Given the description of an element on the screen output the (x, y) to click on. 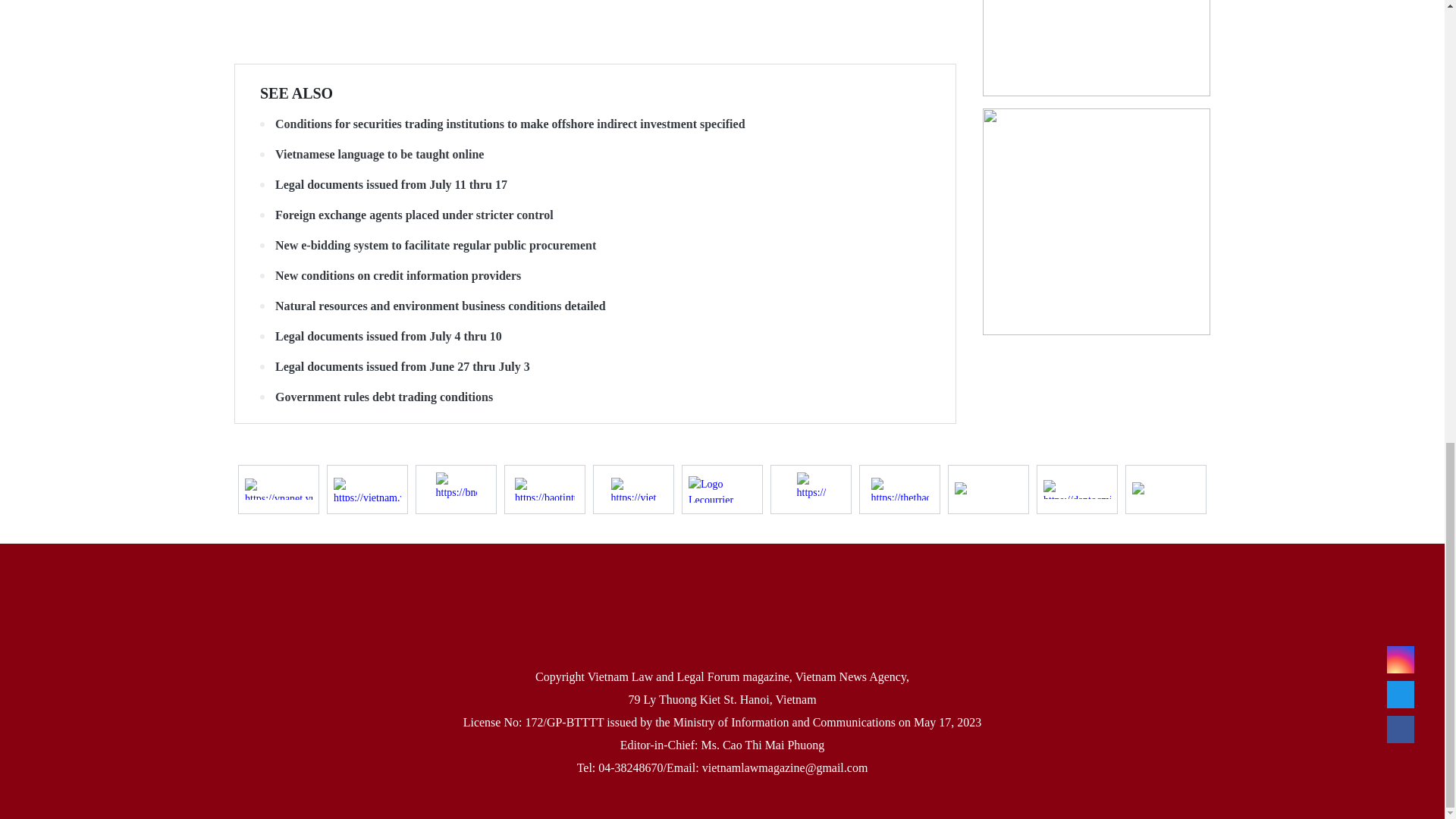
New conditions on credit information providers (595, 275)
Foreign exchange agents placed under stricter control (595, 215)
Legal documents issued from July 11 thru 17 (595, 184)
SEE ALSO (296, 93)
Legal documents issued from July 4 thru 10 (595, 336)
Vietnamese language to be taught online (595, 154)
